Given the description of an element on the screen output the (x, y) to click on. 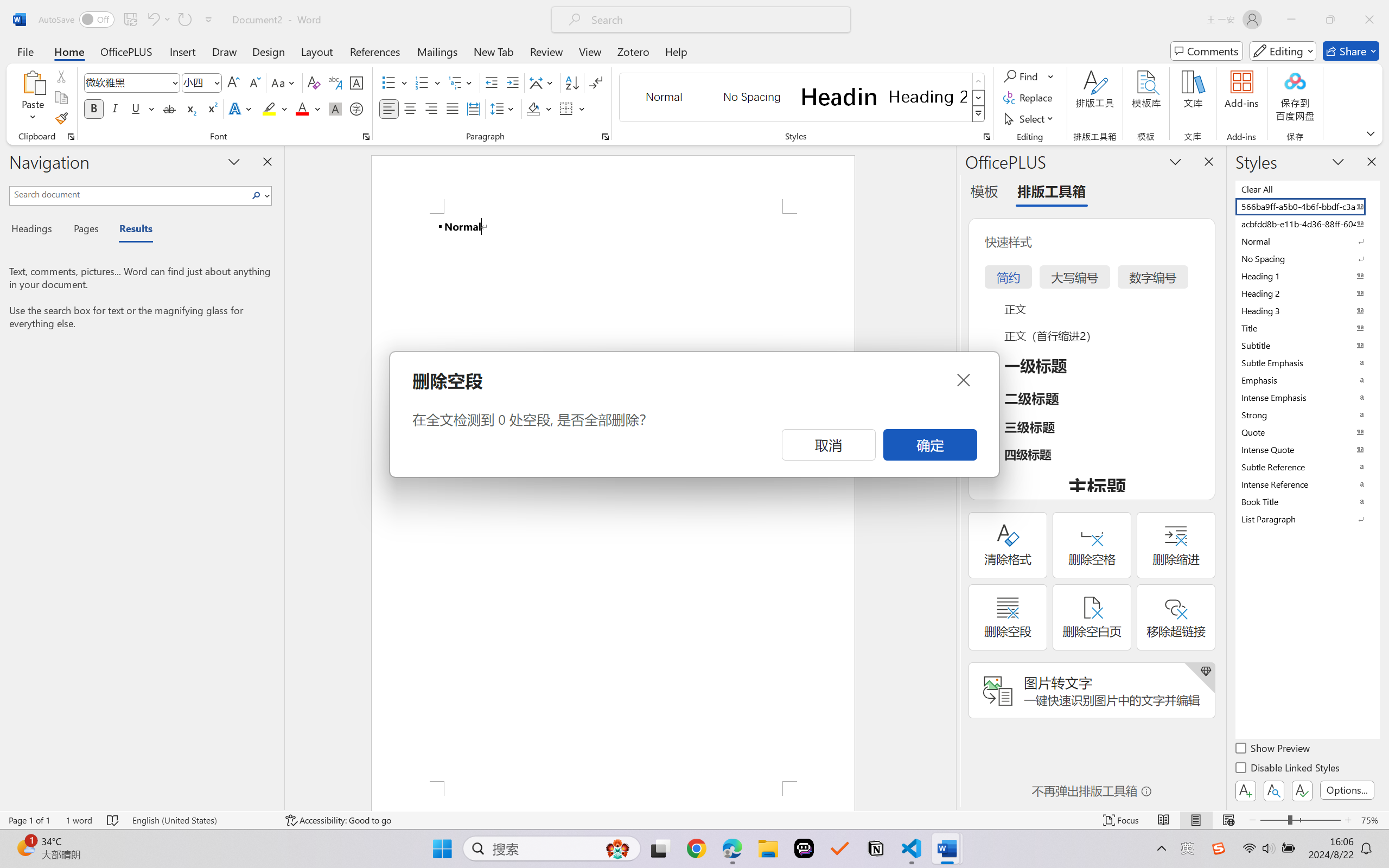
Draw (224, 51)
Undo <ApplyStyleToDoc>b__0 (152, 19)
